Given the description of an element on the screen output the (x, y) to click on. 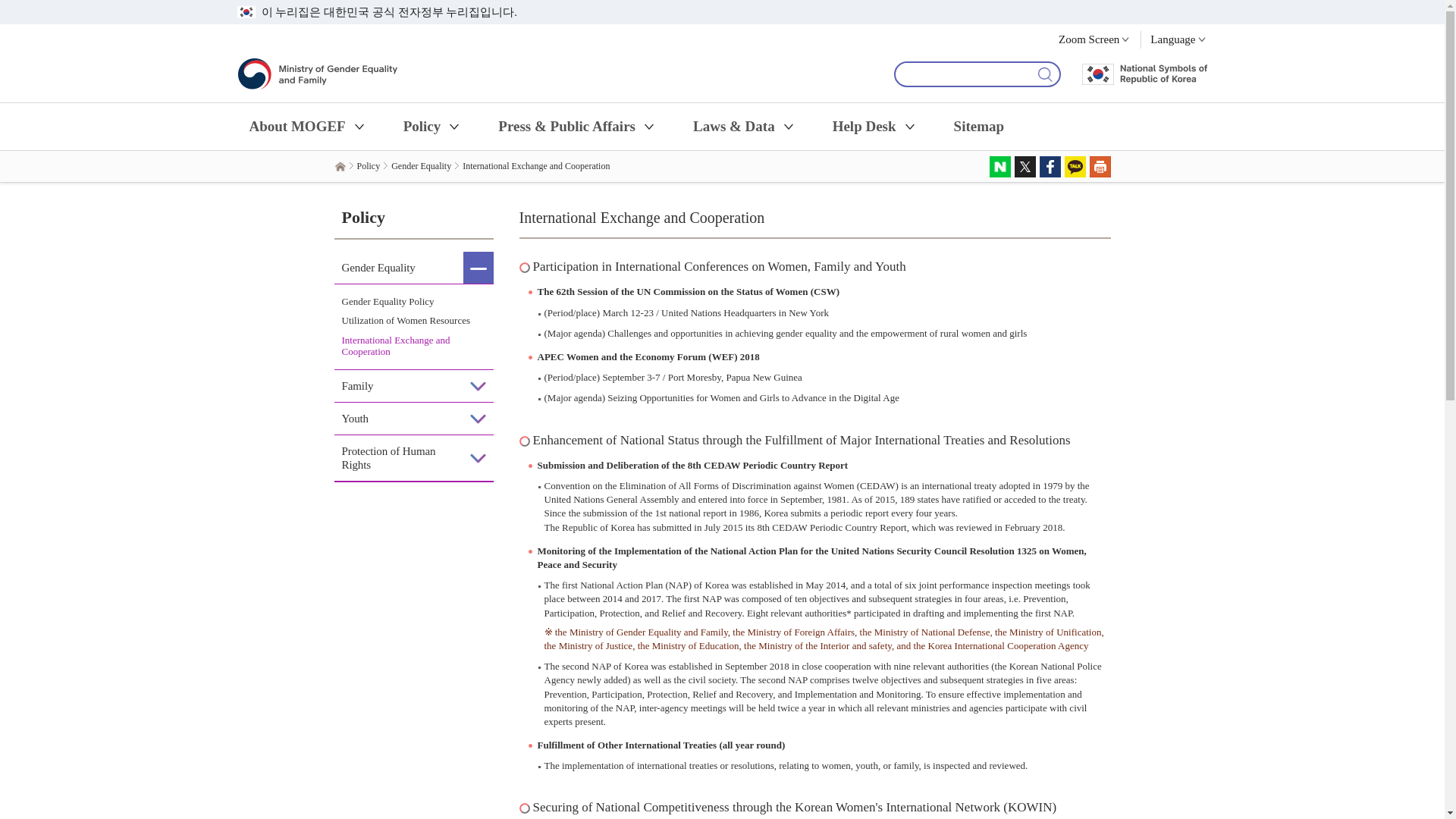
New Window Send X Link (1024, 166)
Policy (433, 125)
Help Desk (874, 125)
New Window Send Naver Blog Link (999, 166)
About MOGEF (307, 125)
New window (1043, 74)
New Window Send facebook Link (1049, 166)
search button (1043, 74)
New Window MOGEF KOREAN (1173, 38)
New Window Print Link (1099, 166)
